Given the description of an element on the screen output the (x, y) to click on. 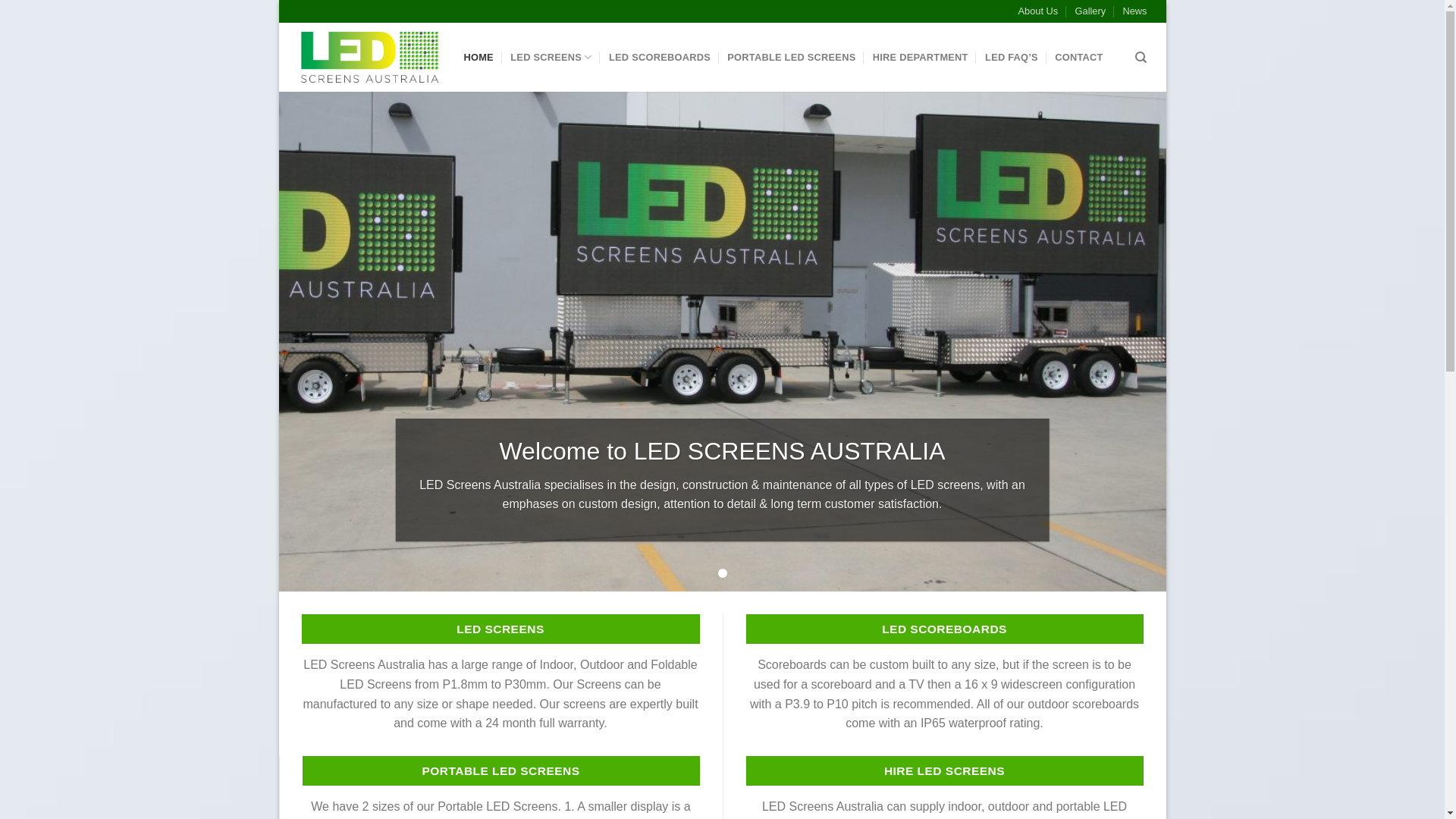
HIRE DEPARTMENT Element type: text (920, 57)
News Element type: text (1134, 11)
CONTACT Element type: text (1078, 57)
HIRE LED SCREENS Element type: text (944, 770)
HOME Element type: text (478, 57)
About Us Element type: text (1038, 11)
PORTABLE LED SCREENS Element type: text (500, 770)
LED SCREENS Element type: text (500, 628)
PORTABLE LED SCREENS Element type: text (791, 57)
LED Screens Australia - Led Screens & LED scoreboards Element type: hover (368, 57)
LED SCREENS Element type: text (550, 57)
LED SCOREBOARDS Element type: text (944, 628)
Gallery Element type: text (1090, 11)
LED SCOREBOARDS Element type: text (659, 57)
